Given the description of an element on the screen output the (x, y) to click on. 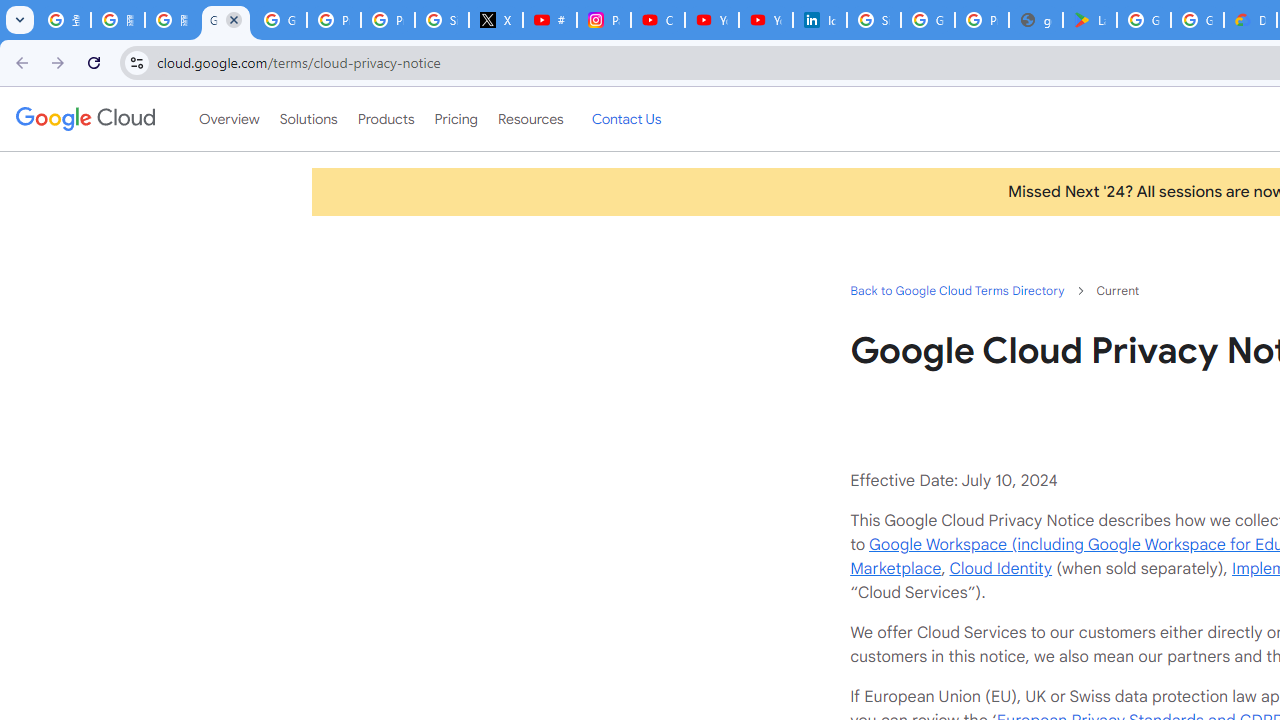
Google Cloud Privacy Notice (225, 20)
YouTube Culture & Trends - YouTube Top 10, 2021 (765, 20)
#nbabasketballhighlights - YouTube (550, 20)
Sign in - Google Accounts (441, 20)
Products (385, 119)
Google Workspace - Specific Terms (1197, 20)
Identity verification via Persona | LinkedIn Help (819, 20)
